Given the description of an element on the screen output the (x, y) to click on. 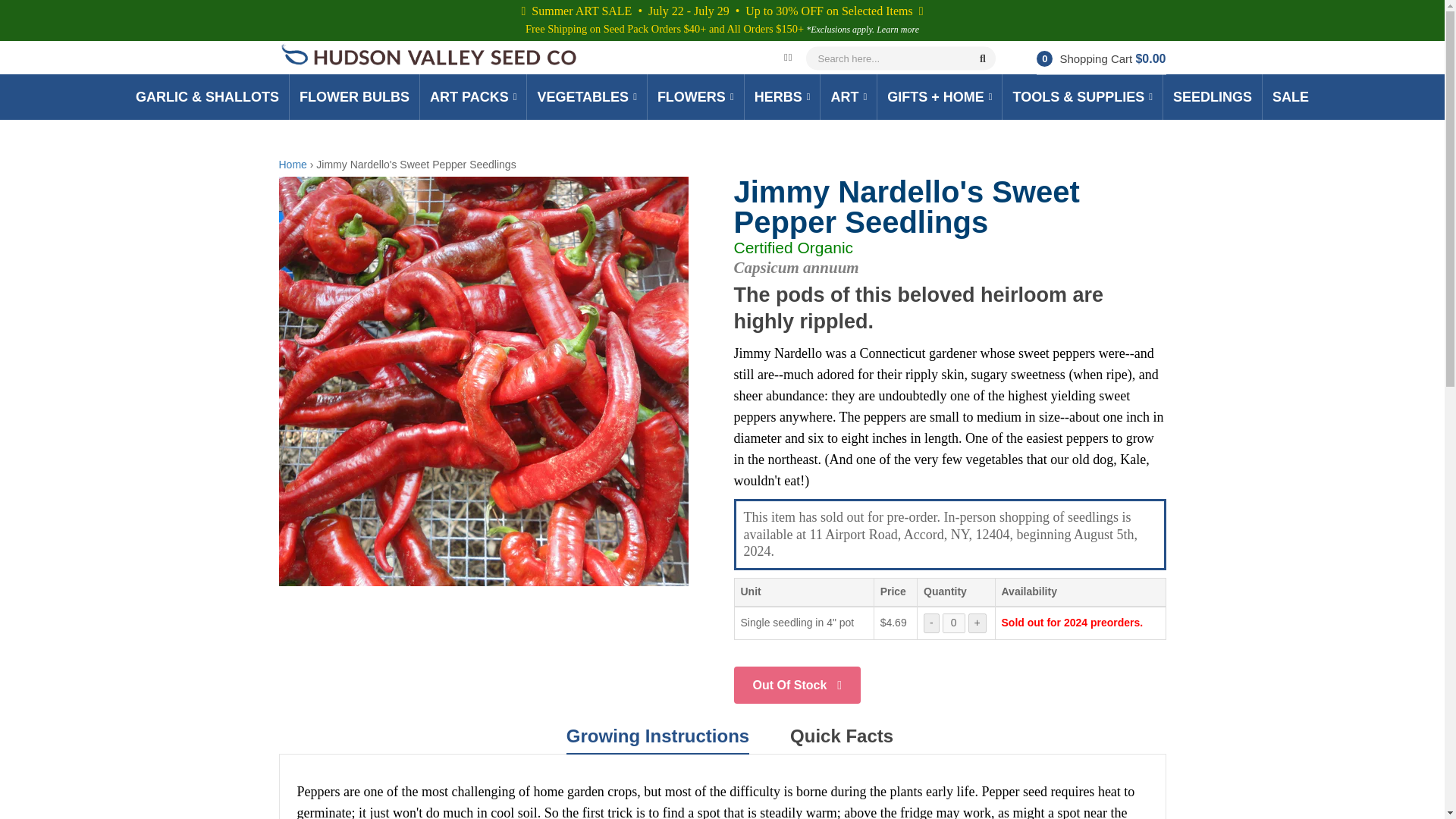
Learn more (897, 29)
ART PACKS (473, 97)
Back to the frontpage (293, 164)
0 (953, 623)
VEGETABLES (586, 97)
FLOWER BULBS (354, 97)
